Given the description of an element on the screen output the (x, y) to click on. 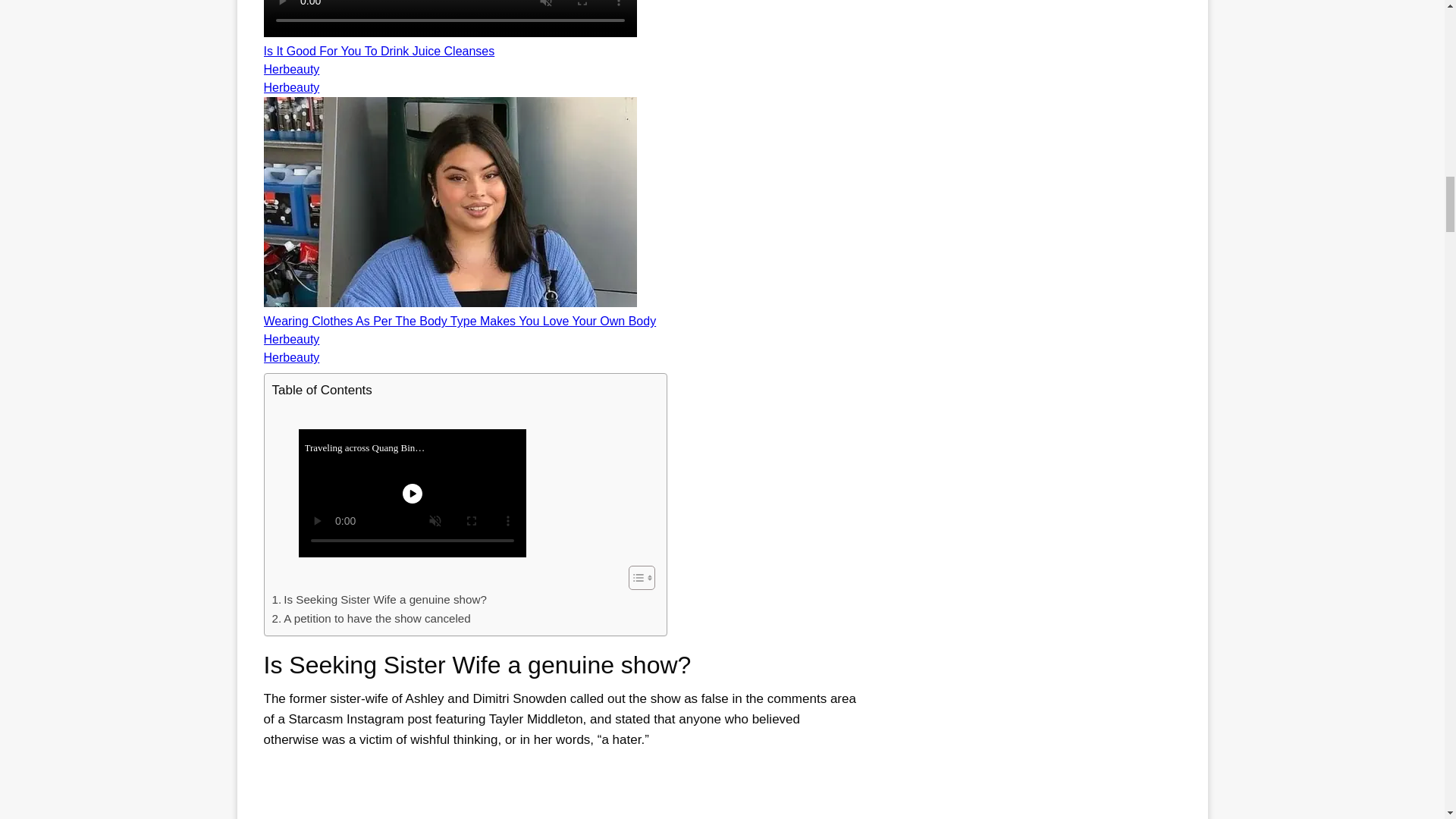
Traveling across Quang Binh to stunning cinematic locations (460, 482)
A petition to have the show canceled (370, 618)
Is Seeking Sister Wife a genuine show? (378, 599)
A petition to have the show canceled (370, 618)
Is Seeking Sister Wife a genuine show? (378, 599)
